Given the description of an element on the screen output the (x, y) to click on. 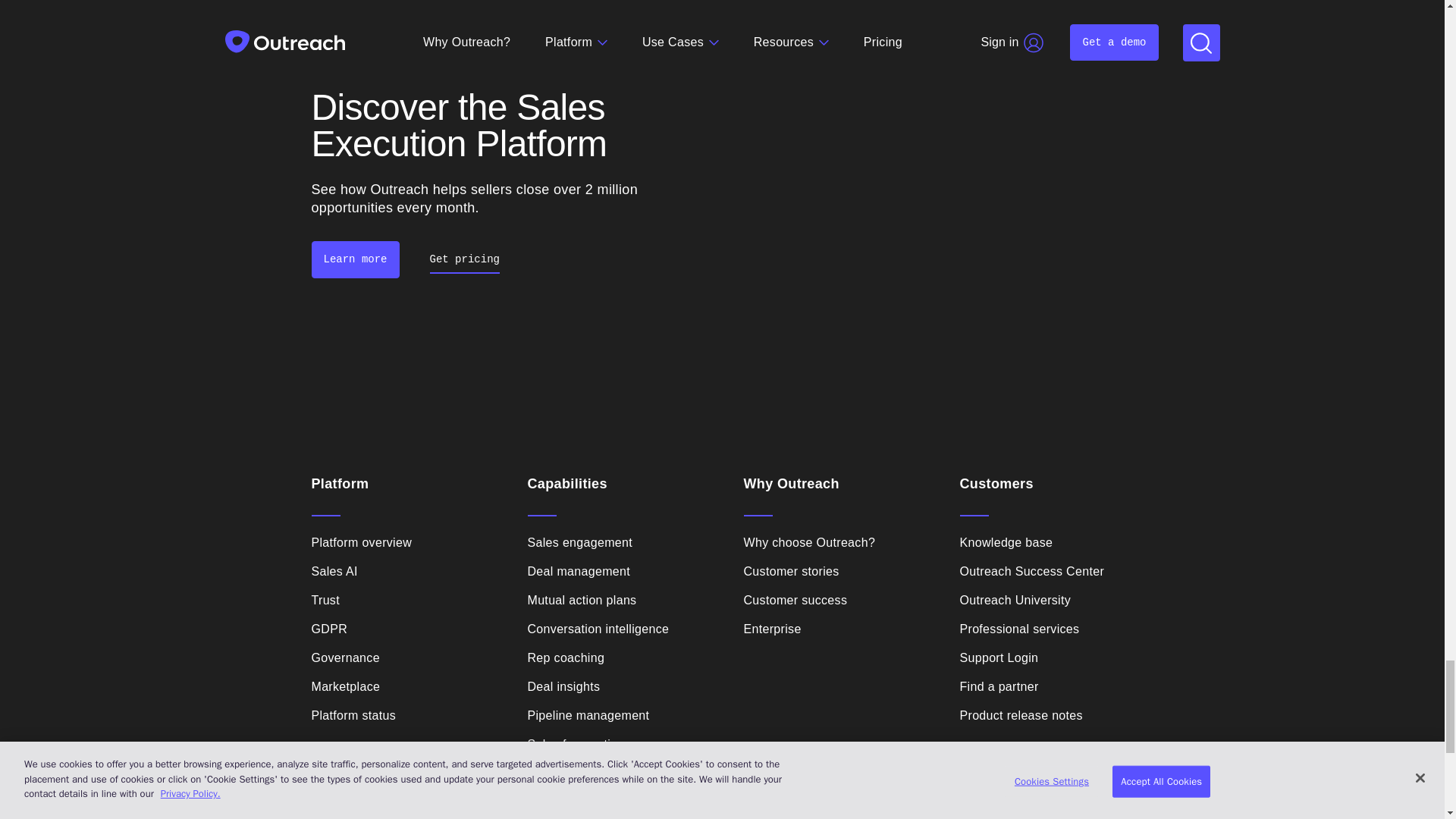
Get pricing (464, 259)
Platform overview (361, 542)
Learn more (354, 259)
Governance (344, 658)
GDPR (329, 629)
Sales AI (333, 571)
Trust (325, 599)
